Given the description of an element on the screen output the (x, y) to click on. 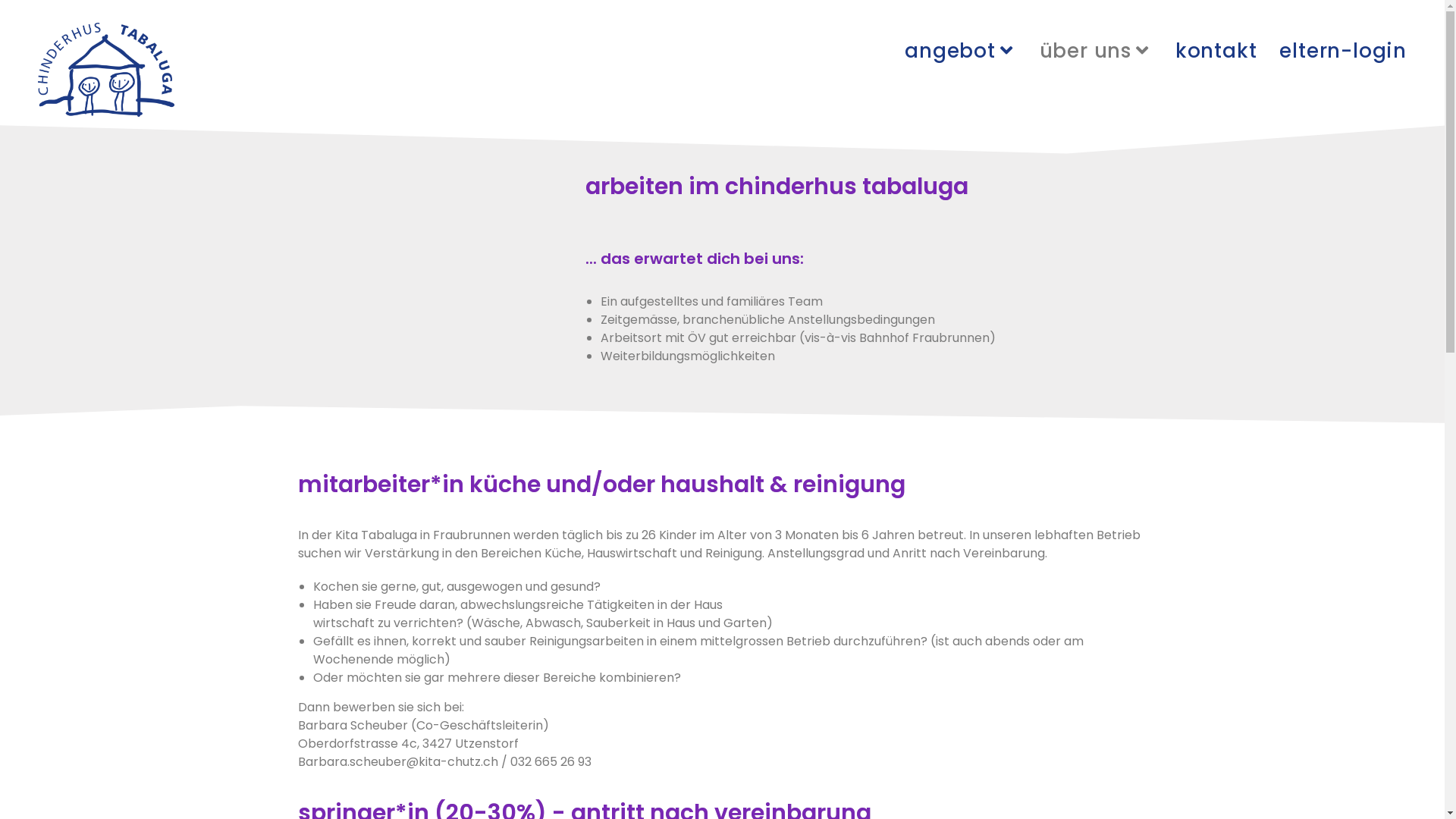
eltern-login Element type: text (1342, 50)
kontakt Element type: text (1216, 50)
angebot Element type: text (960, 50)
